Given the description of an element on the screen output the (x, y) to click on. 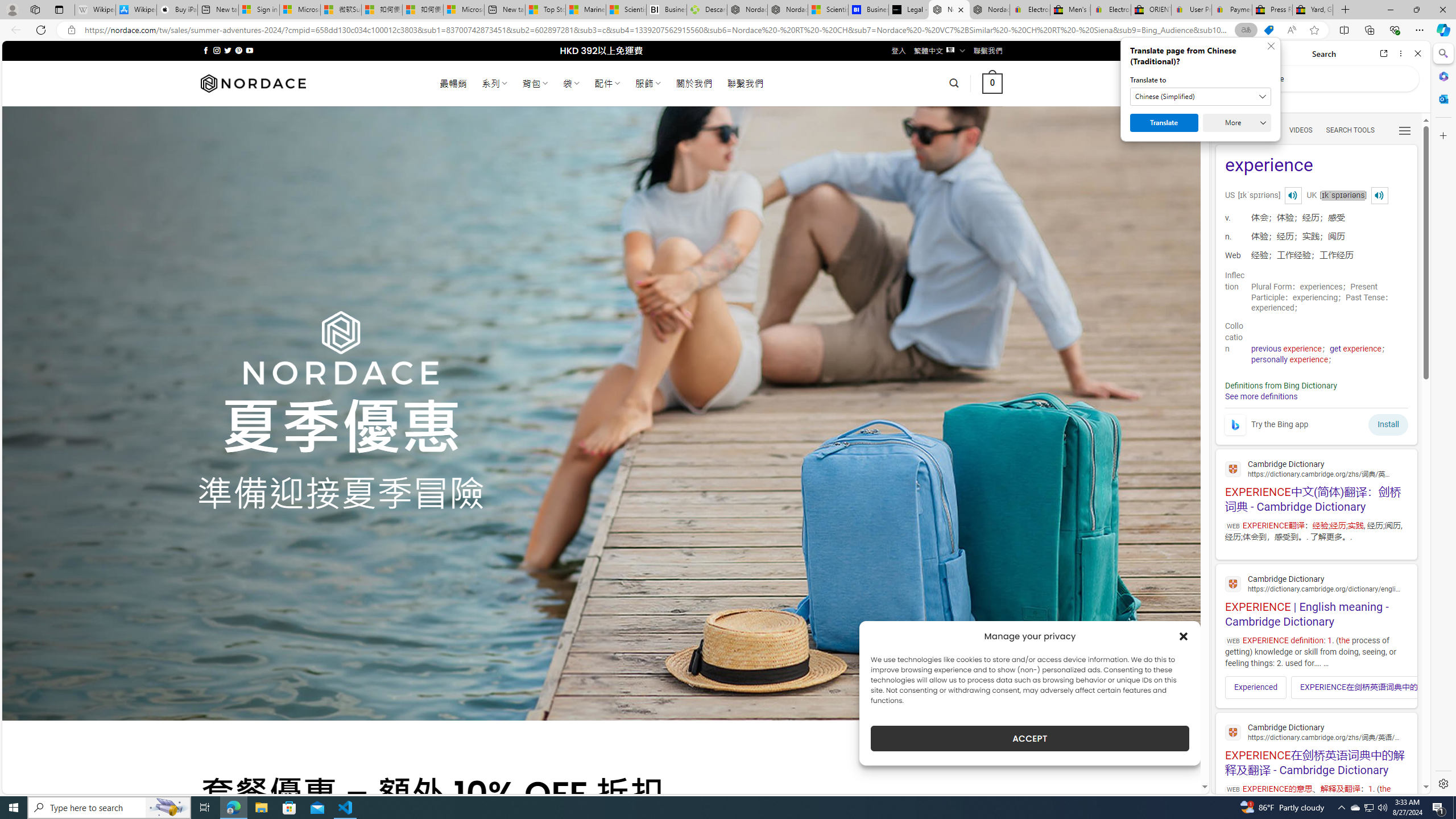
Microsoft account | Account Checkup (463, 9)
  0   (992, 83)
Buy iPad - Apple (176, 9)
This site has coupons! Shopping in Microsoft Edge (1268, 29)
